Given the description of an element on the screen output the (x, y) to click on. 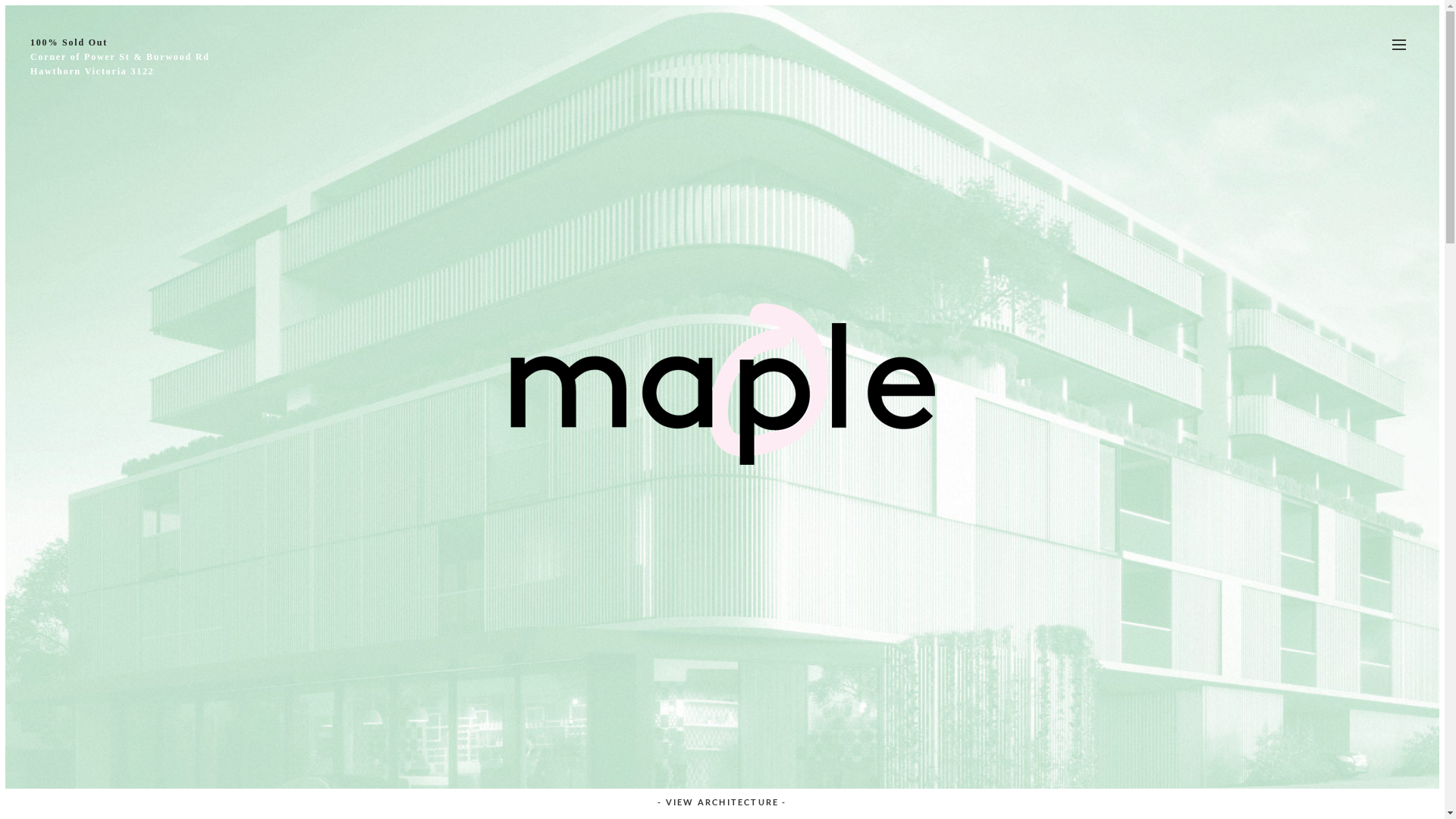
- VIEW ARCHITECTURE - Element type: text (721, 802)
